Given the description of an element on the screen output the (x, y) to click on. 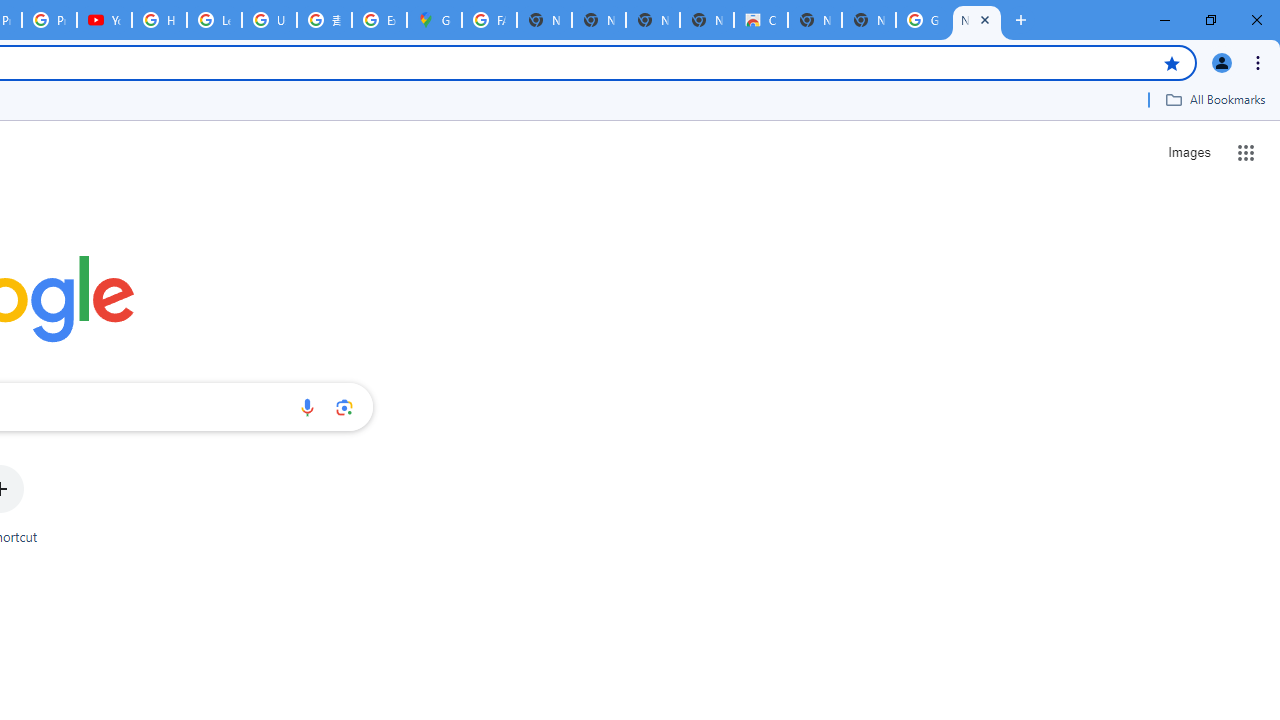
Privacy Checkup (48, 20)
Google Images (922, 20)
Search for Images  (1188, 152)
Search by image (344, 407)
